Given the description of an element on the screen output the (x, y) to click on. 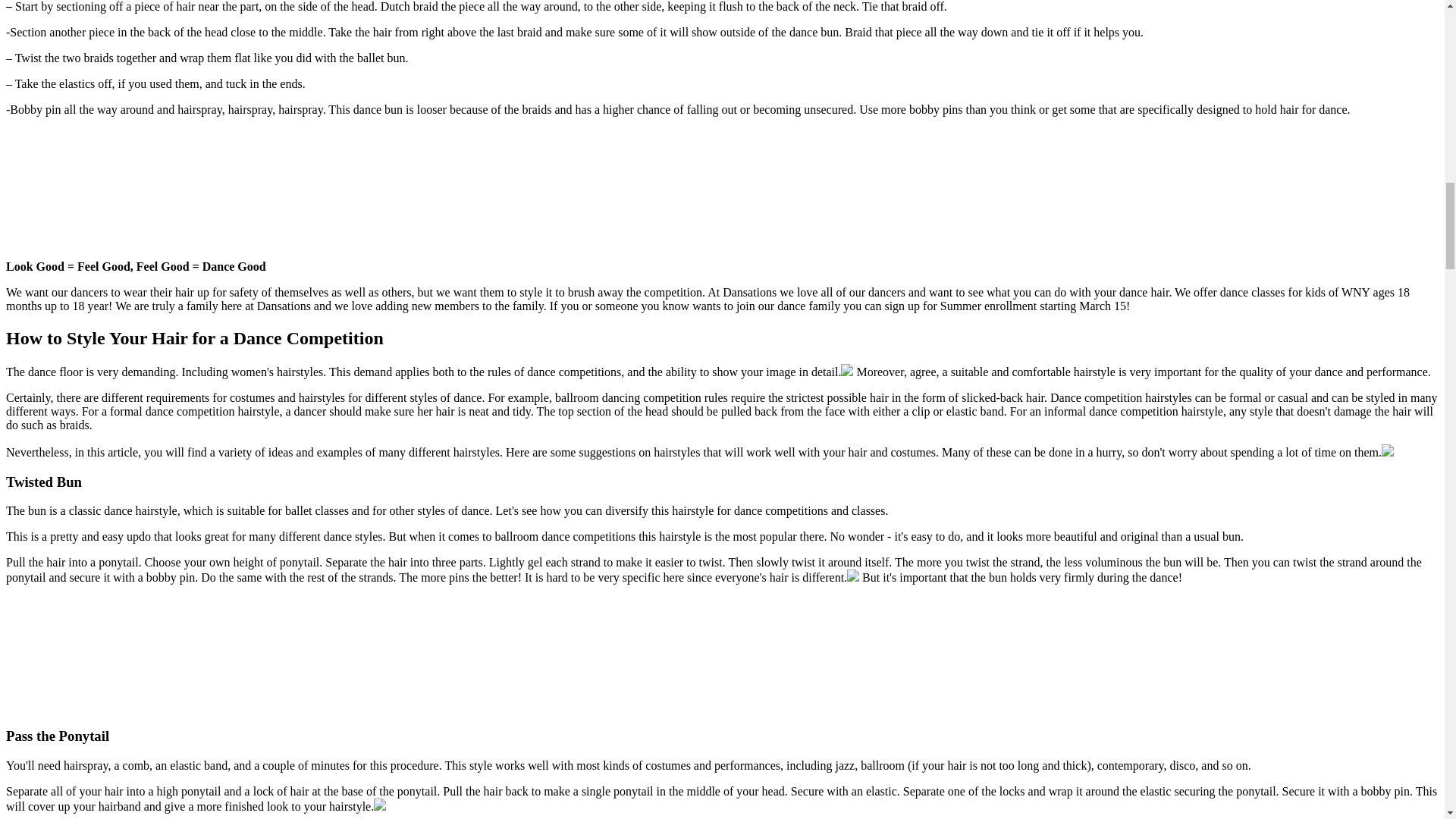
YouTube video player (118, 653)
